Given the description of an element on the screen output the (x, y) to click on. 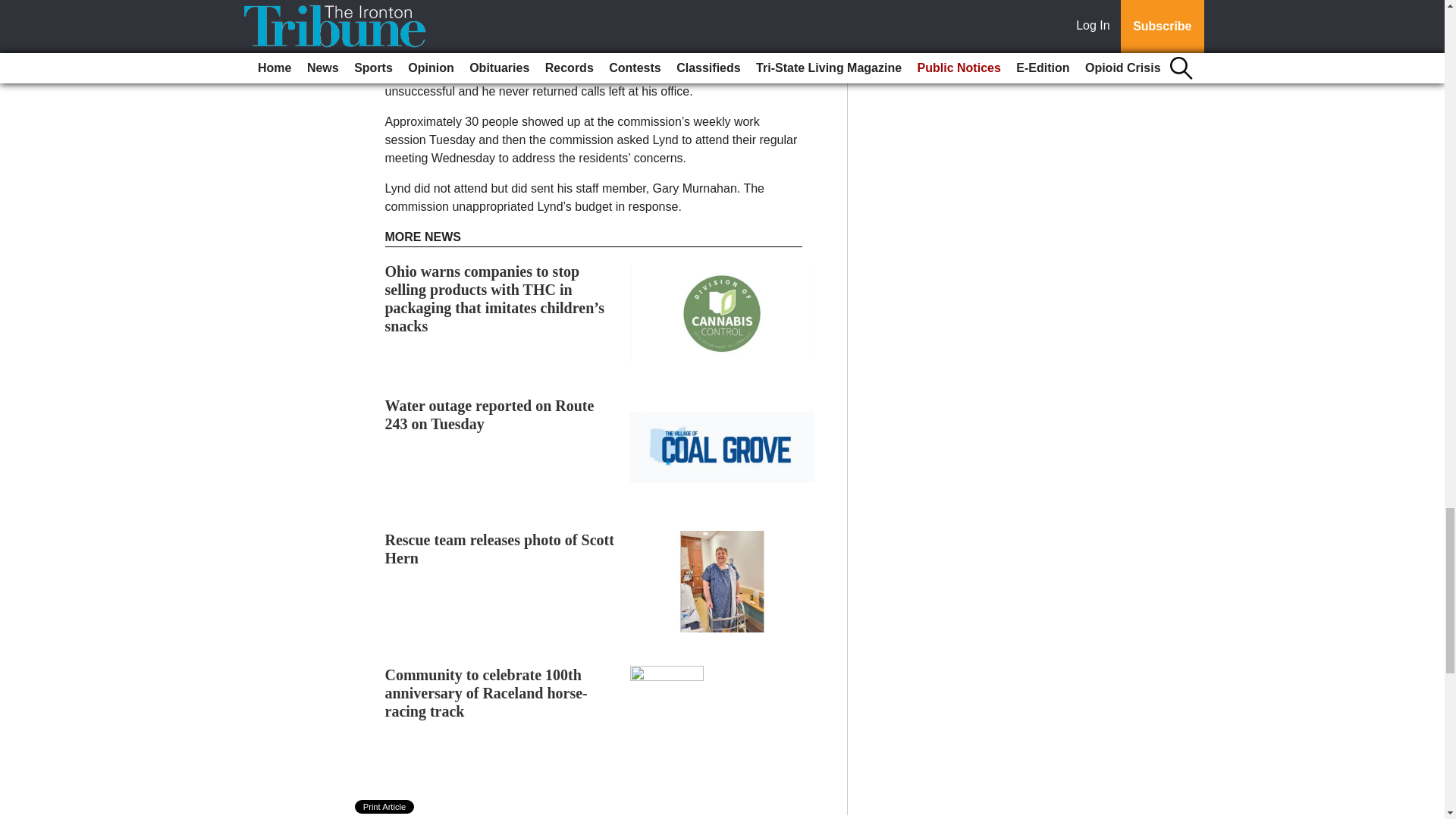
Water outage reported on Route 243 on Tuesday (489, 414)
Rescue team releases photo of Scott Hern (499, 548)
Print Article (384, 807)
Rescue team releases photo of Scott Hern (499, 548)
Water outage reported on Route 243 on Tuesday (489, 414)
